Given the description of an element on the screen output the (x, y) to click on. 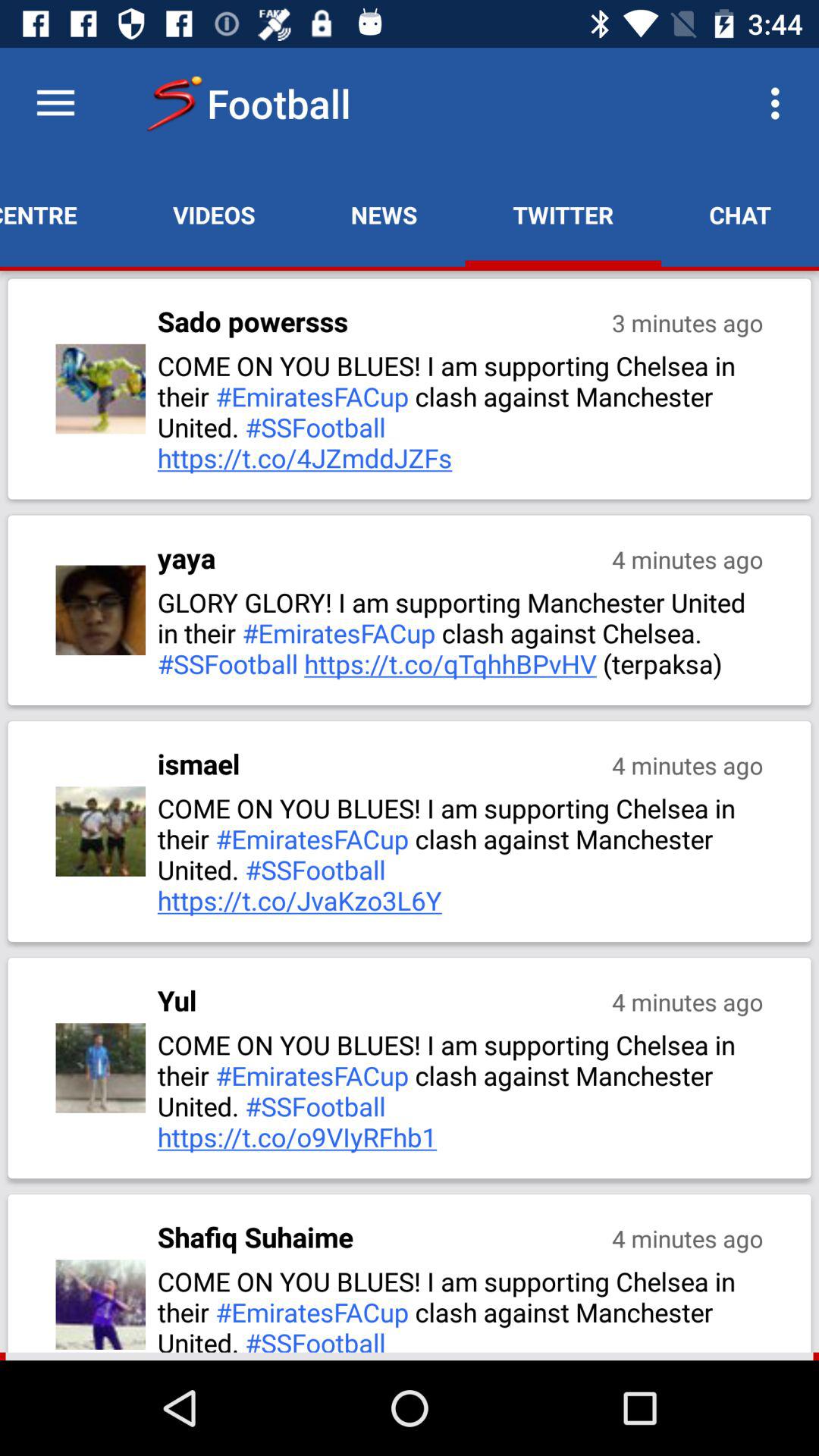
press item above the sado powersss item (214, 214)
